Given the description of an element on the screen output the (x, y) to click on. 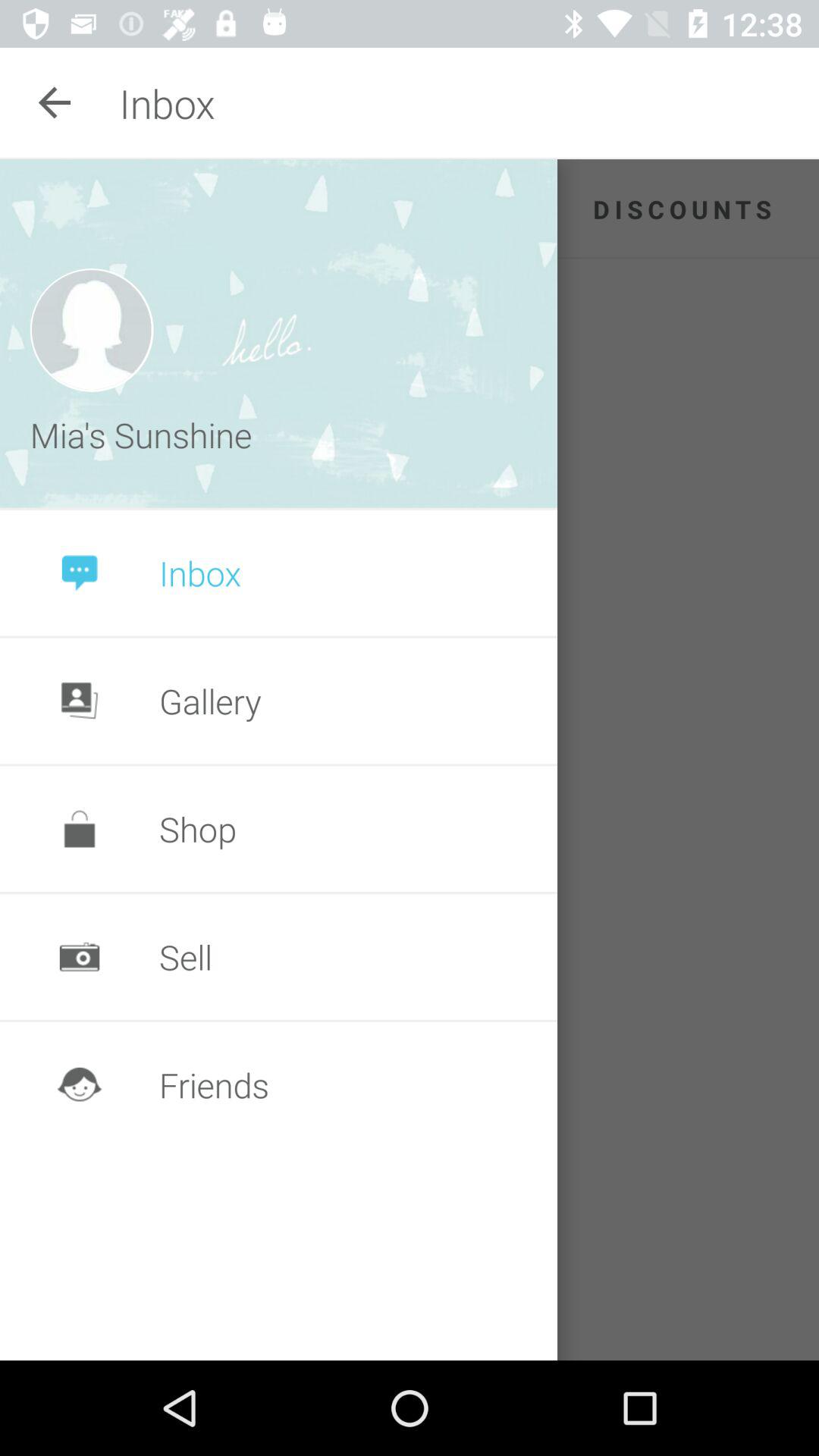
turn off icon below the messages app (91, 329)
